Given the description of an element on the screen output the (x, y) to click on. 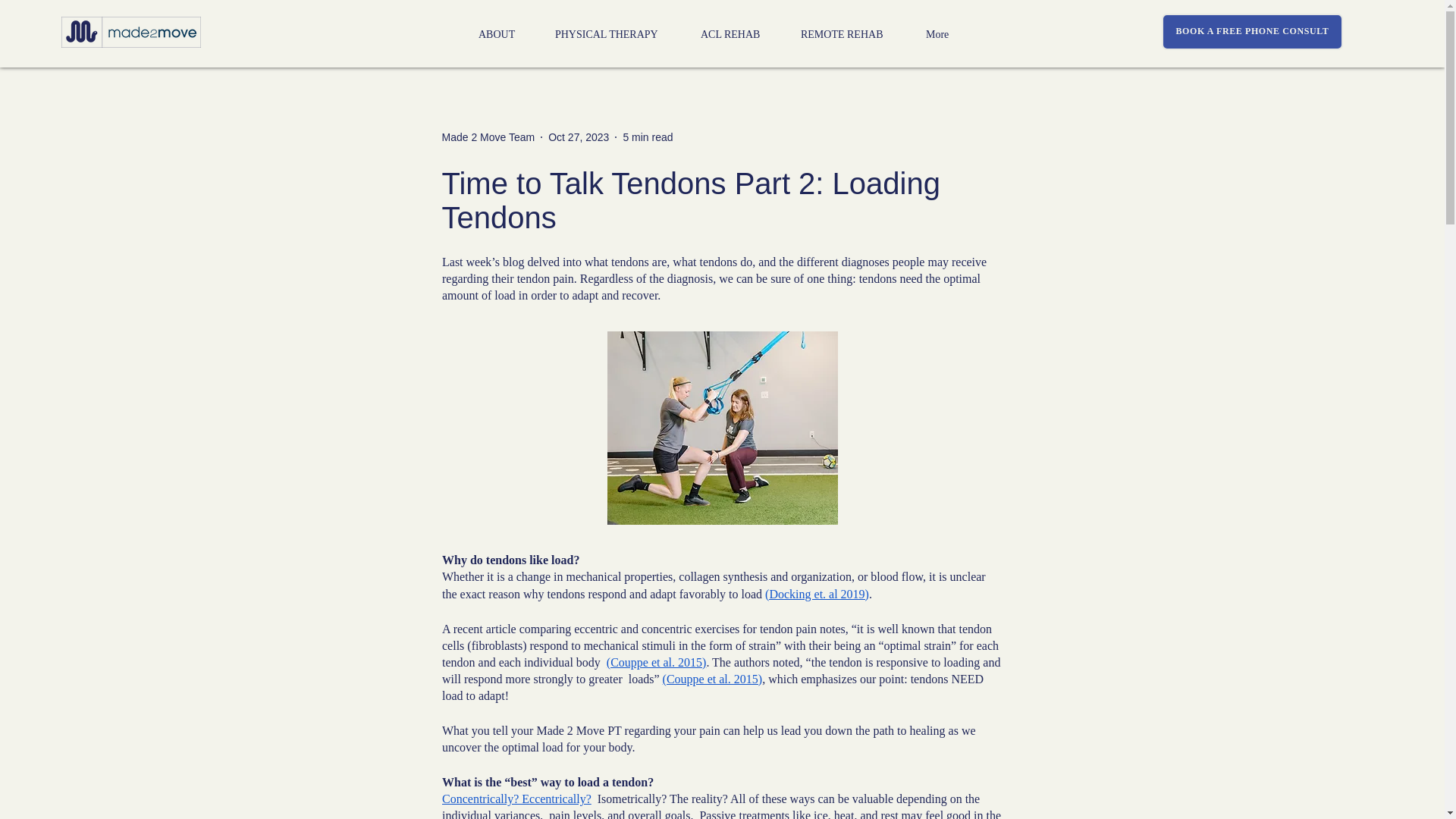
Made 2 Move Team (487, 136)
BOOK A FREE PHONE CONSULT (1251, 31)
Concentrically? Eccentrically? (516, 798)
REMOTE REHAB (851, 33)
5 min read (647, 136)
Made 2 Move Team (487, 136)
Oct 27, 2023 (578, 136)
ACL REHAB (738, 33)
PHYSICAL THERAPY (615, 33)
